Given the description of an element on the screen output the (x, y) to click on. 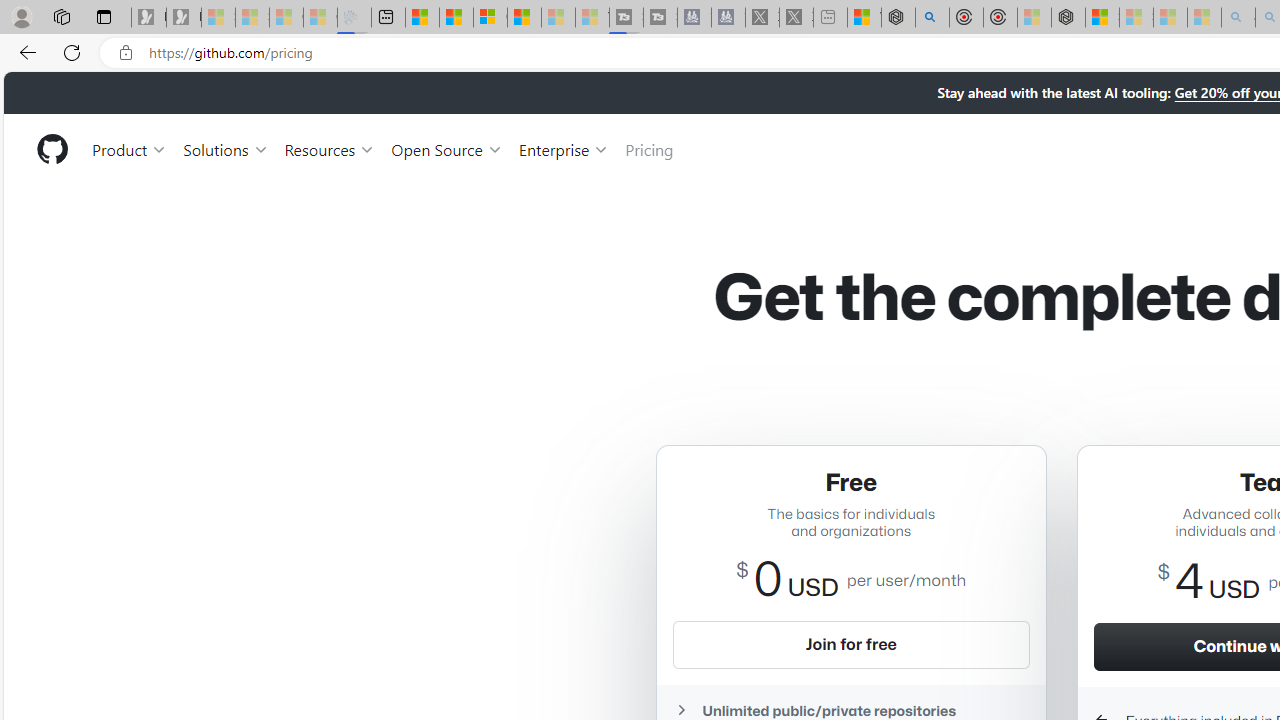
Enterprise (563, 148)
New tab - Sleeping (830, 17)
Enterprise (563, 148)
Microsoft Start - Sleeping (557, 17)
Solutions (225, 148)
Nordace - Summer Adventures 2024 (898, 17)
Resources (330, 148)
Homepage (51, 149)
Pricing (649, 148)
X - Sleeping (795, 17)
